Given the description of an element on the screen output the (x, y) to click on. 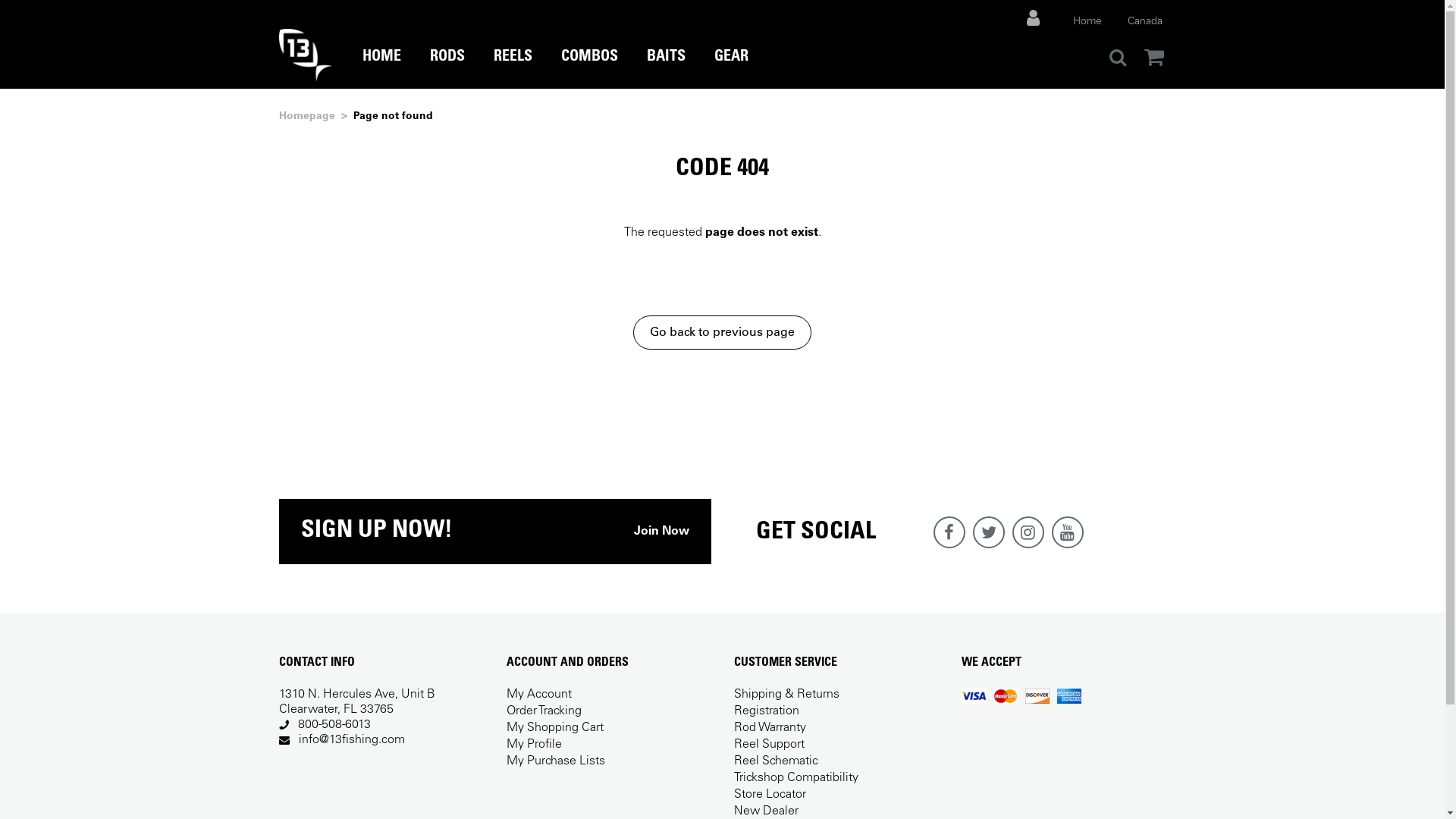
info@13fishing.com Element type: text (351, 740)
Follow Us on Twitter Element type: text (988, 532)
13 Fishing Element type: hover (305, 54)
COMBOS Element type: text (589, 68)
My Profile Element type: text (533, 744)
Trickshop Compatibility Element type: text (796, 777)
Go back to previous page Element type: text (722, 332)
Registration Element type: text (766, 711)
Payment Methods Accepted Element type: hover (1021, 695)
New Dealer Element type: text (766, 811)
My Shopping Cart Element type: text (554, 727)
My Purchase Lists Element type: text (555, 761)
BAITS Element type: text (665, 68)
Join Now Element type: text (661, 531)
Home Element type: text (1086, 21)
REELS Element type: text (511, 68)
Reel Schematic Element type: text (776, 761)
Canada Element type: text (1143, 21)
My Account Element type: text (538, 694)
Reel Support Element type: text (769, 744)
Order Tracking Element type: text (543, 711)
Rod Warranty Element type: text (770, 727)
Follow Us on Instagram Element type: text (1027, 532)
Shipping & Returns Element type: text (786, 694)
Store Locator Element type: text (770, 794)
HOME Element type: text (381, 68)
Follow Us on YouTube Element type: text (1066, 532)
GEAR Element type: text (731, 68)
Follow Us on Facebook Element type: text (948, 532)
RODS Element type: text (446, 68)
Homepage Element type: text (307, 116)
